Given the description of an element on the screen output the (x, y) to click on. 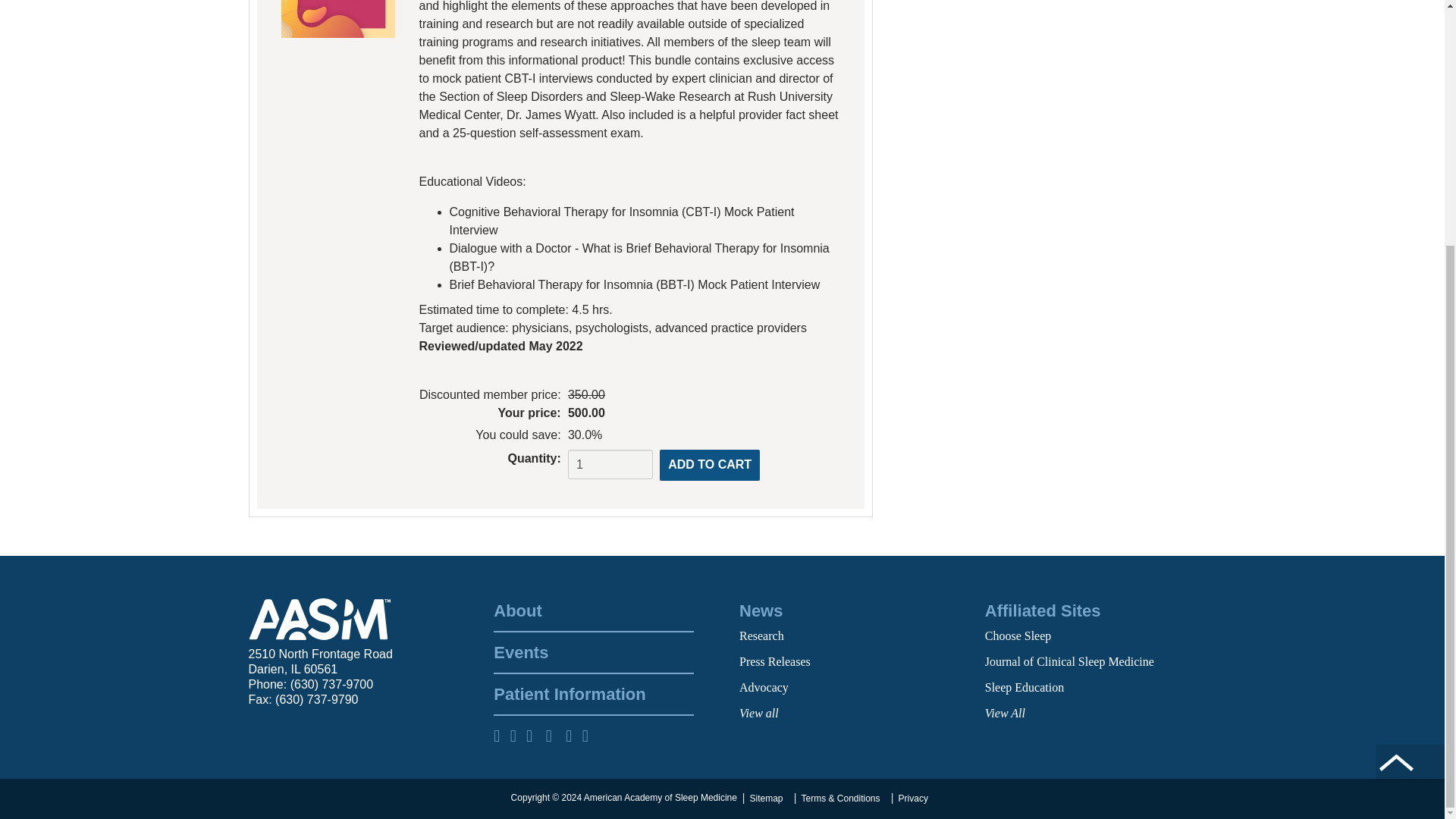
Add to Cart (709, 464)
About (593, 610)
Add to Cart (709, 464)
Linkedin (556, 735)
1 (609, 464)
View all (758, 713)
AASM Homepage Link (319, 619)
Patient Information (593, 693)
Advocacy (764, 687)
Home (319, 619)
